Given the description of an element on the screen output the (x, y) to click on. 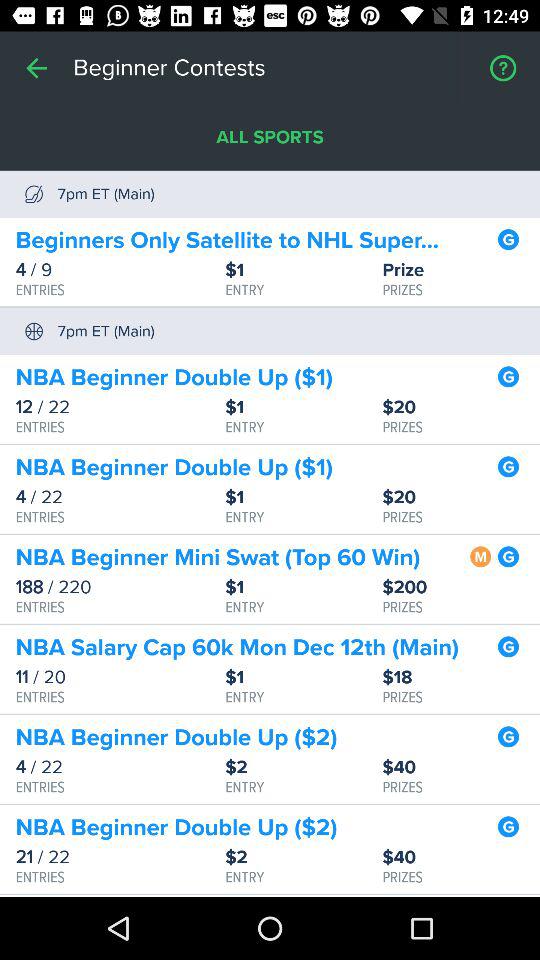
launch the item below the nba salary cap icon (120, 677)
